Given the description of an element on the screen output the (x, y) to click on. 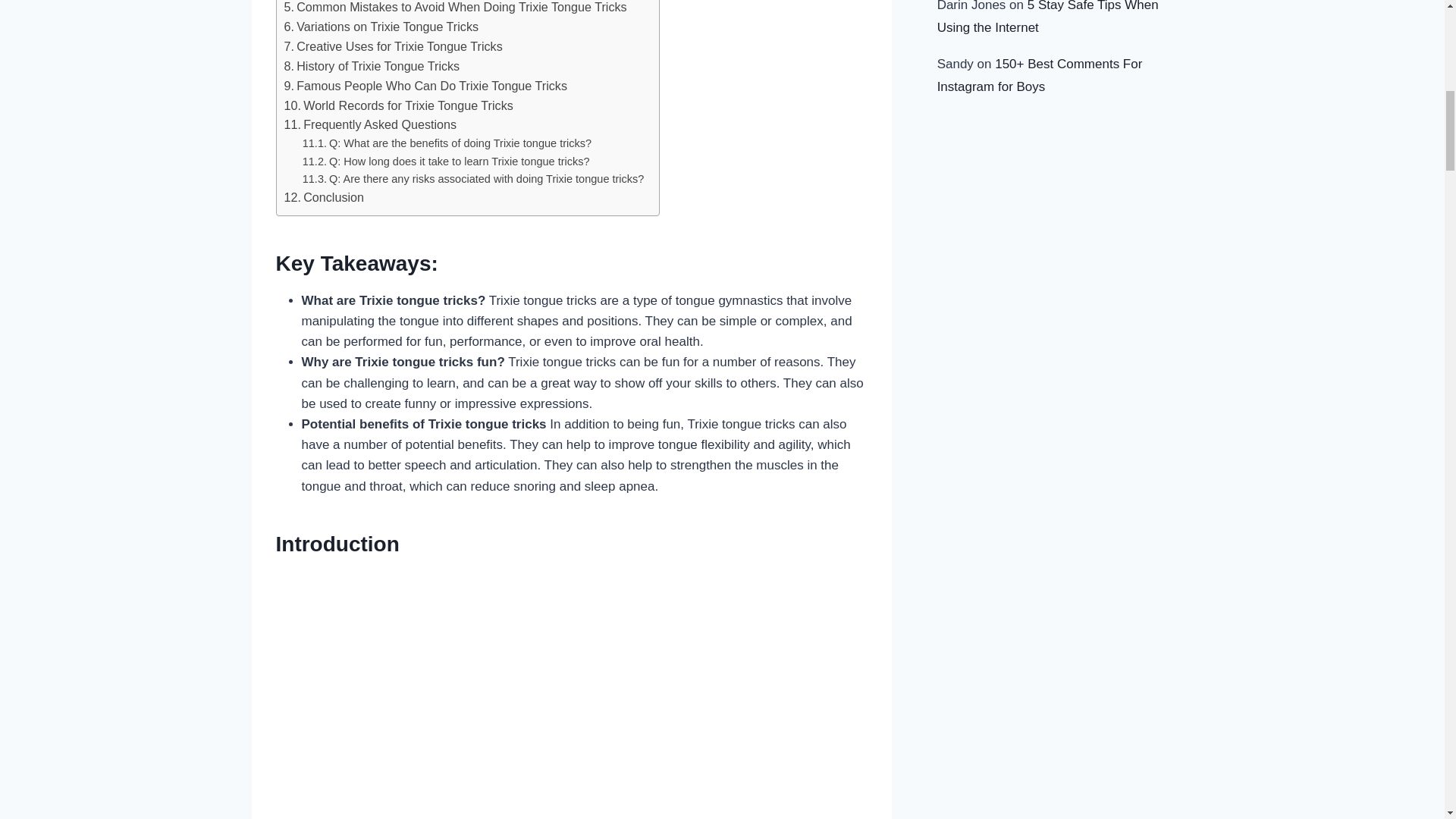
Creative Uses for Trixie Tongue Tricks (392, 46)
Variations on Trixie Tongue Tricks (381, 26)
World Records for Trixie Tongue Tricks (397, 106)
Q: How long does it take to learn Trixie tongue tricks? (445, 161)
Creative Uses for Trixie Tongue Tricks (392, 46)
Common Mistakes to Avoid When Doing Trixie Tongue Tricks (454, 8)
Frequently Asked Questions (370, 125)
Conclusion (323, 198)
Famous People Who Can Do Trixie Tongue Tricks (424, 86)
